Given the description of an element on the screen output the (x, y) to click on. 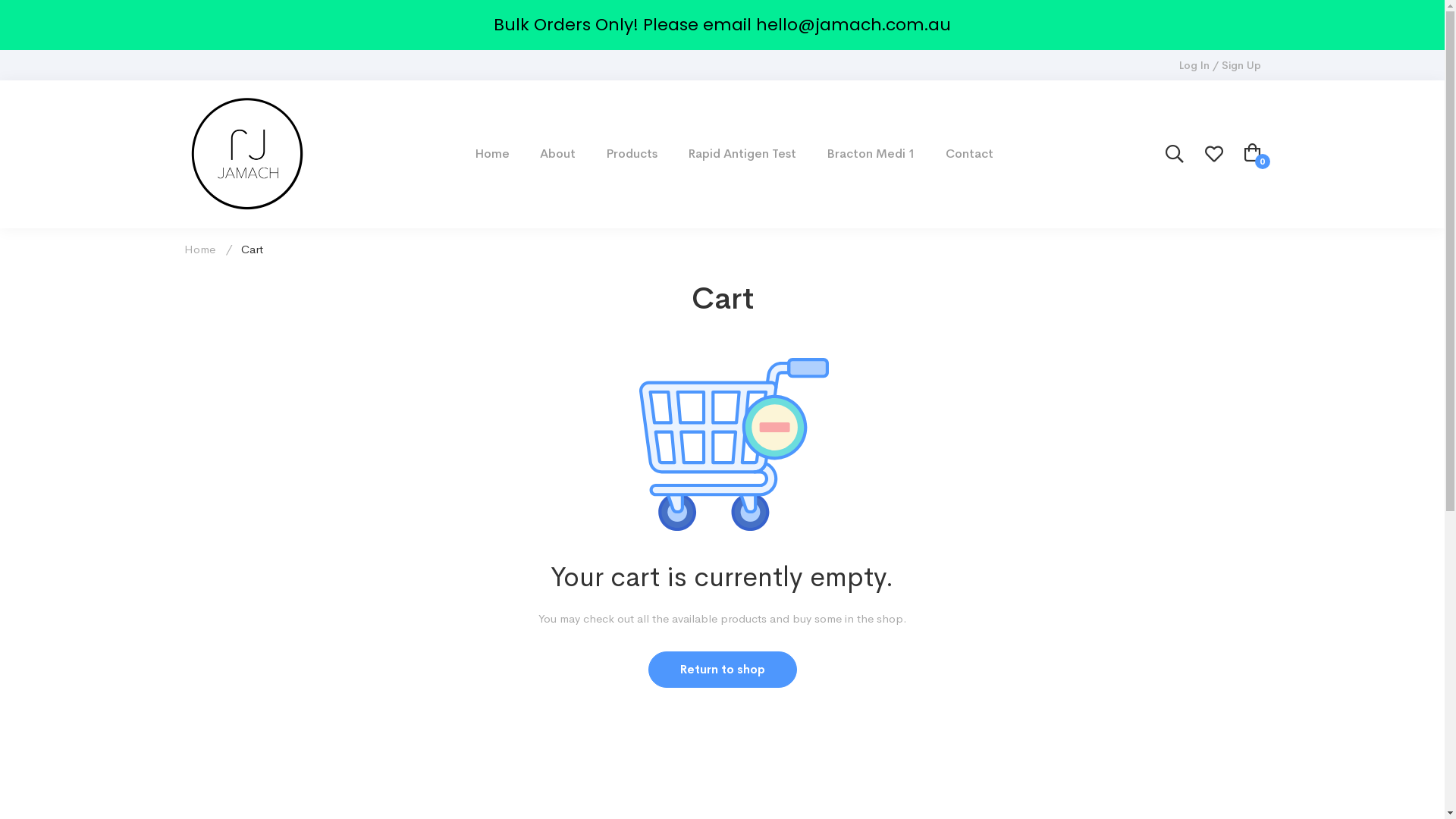
About Element type: text (557, 153)
Bracton Medi 1 Element type: text (870, 153)
Products Element type: text (630, 153)
Log In / Sign Up Element type: text (1219, 65)
Home Element type: text (492, 153)
View your shopping cart Element type: hover (1251, 154)
Rapid Antigen Test Element type: text (741, 153)
Home Element type: text (198, 248)
Contact Element type: text (968, 153)
Return to shop Element type: text (721, 669)
